Given the description of an element on the screen output the (x, y) to click on. 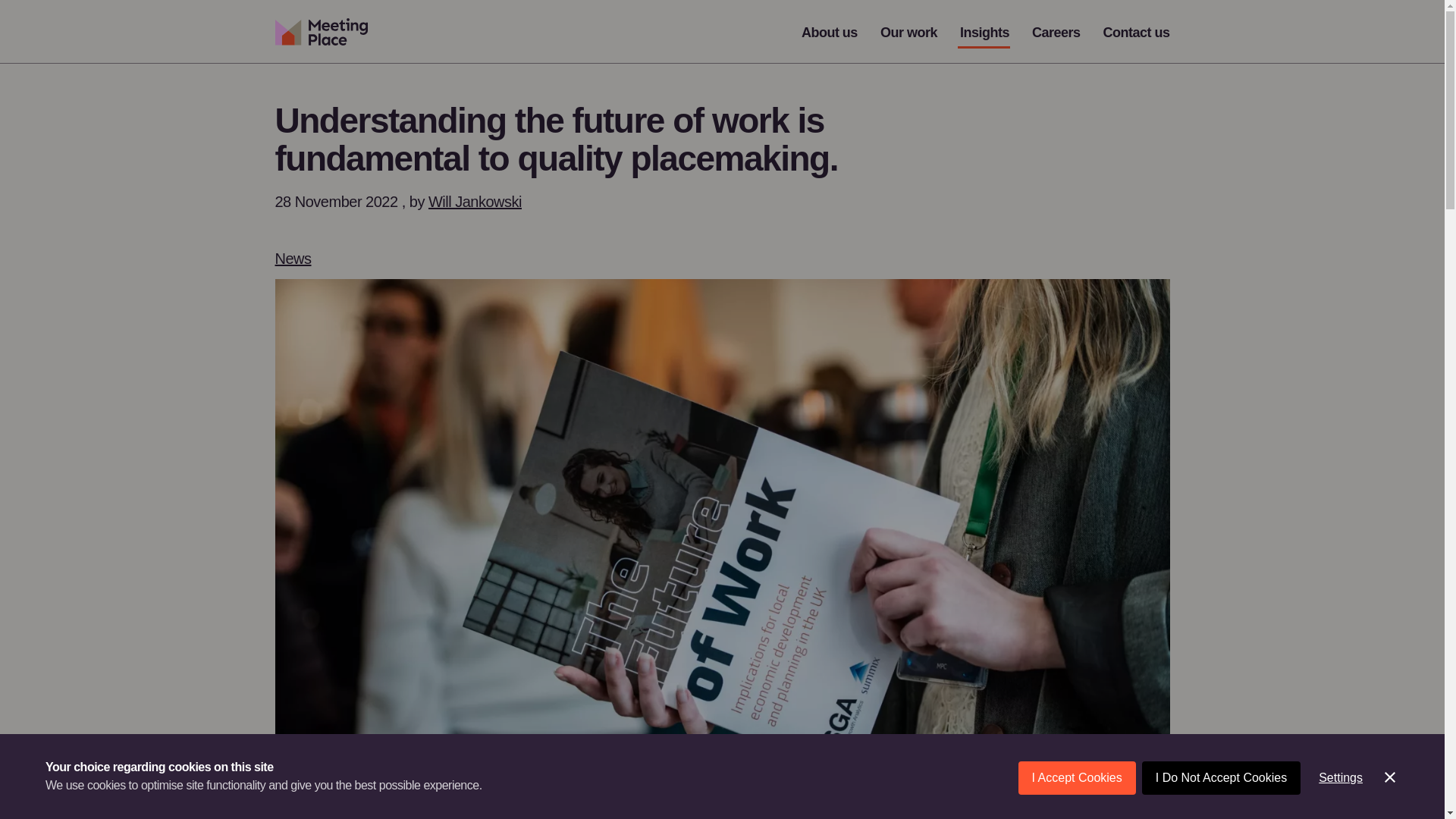
Insights (984, 32)
Contact us (1135, 32)
Careers (1056, 32)
Our work (908, 32)
Will Jankowski (474, 201)
News (293, 258)
About us (829, 32)
Settings (1340, 816)
